Given the description of an element on the screen output the (x, y) to click on. 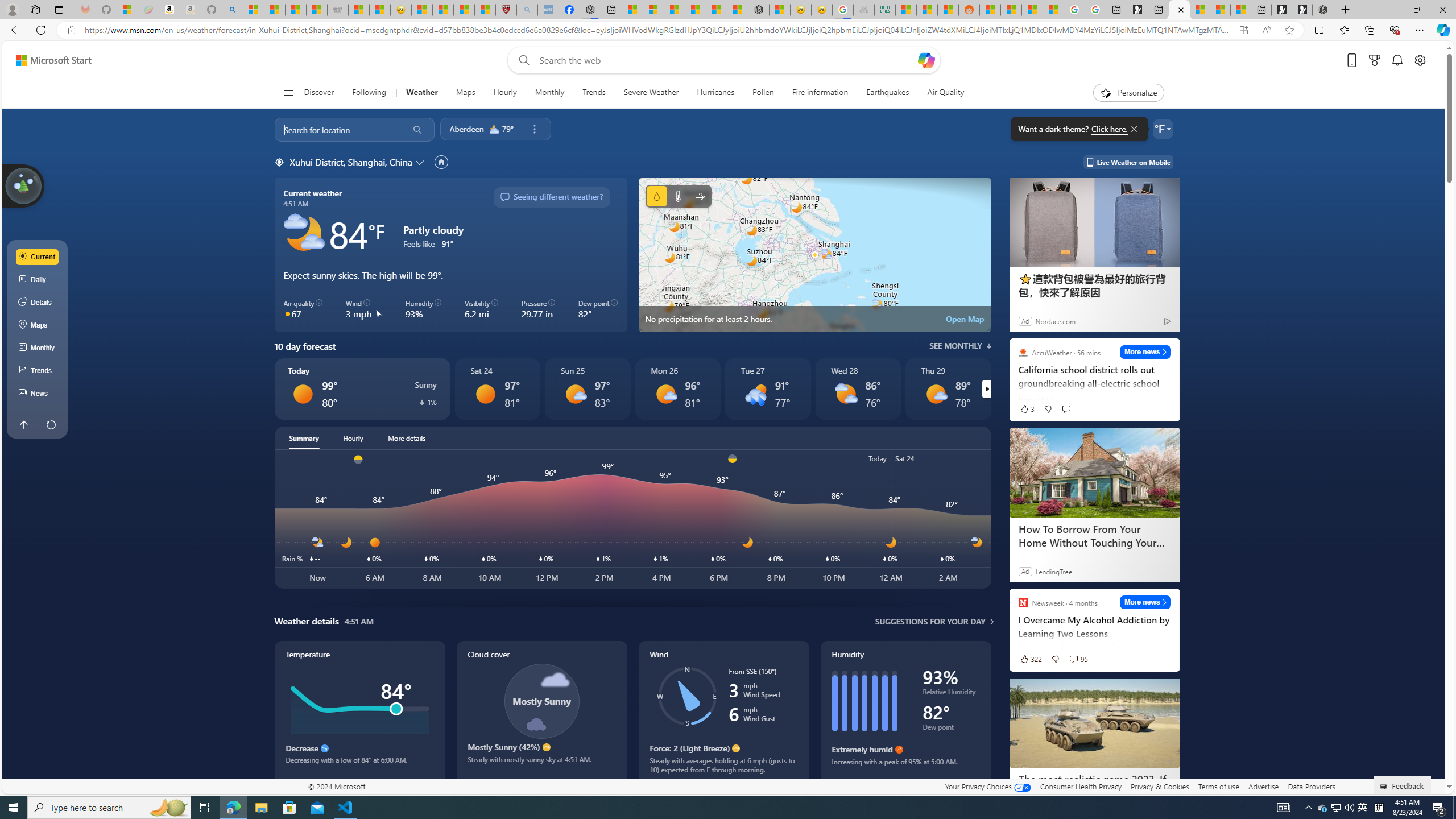
Nordace - #1 Japanese Best-Seller - Siena Smart Backpack (759, 9)
Nordace.com (1055, 320)
12 Popular Science Lies that Must be Corrected (485, 9)
More news (1144, 602)
Skip to footer (46, 59)
Aberdeen (466, 129)
MSNBC - MSN (906, 9)
Back to top (23, 424)
Partly cloudy (303, 232)
Rain showers (755, 393)
Hourly (352, 437)
Weather settings (1162, 128)
